Given the description of an element on the screen output the (x, y) to click on. 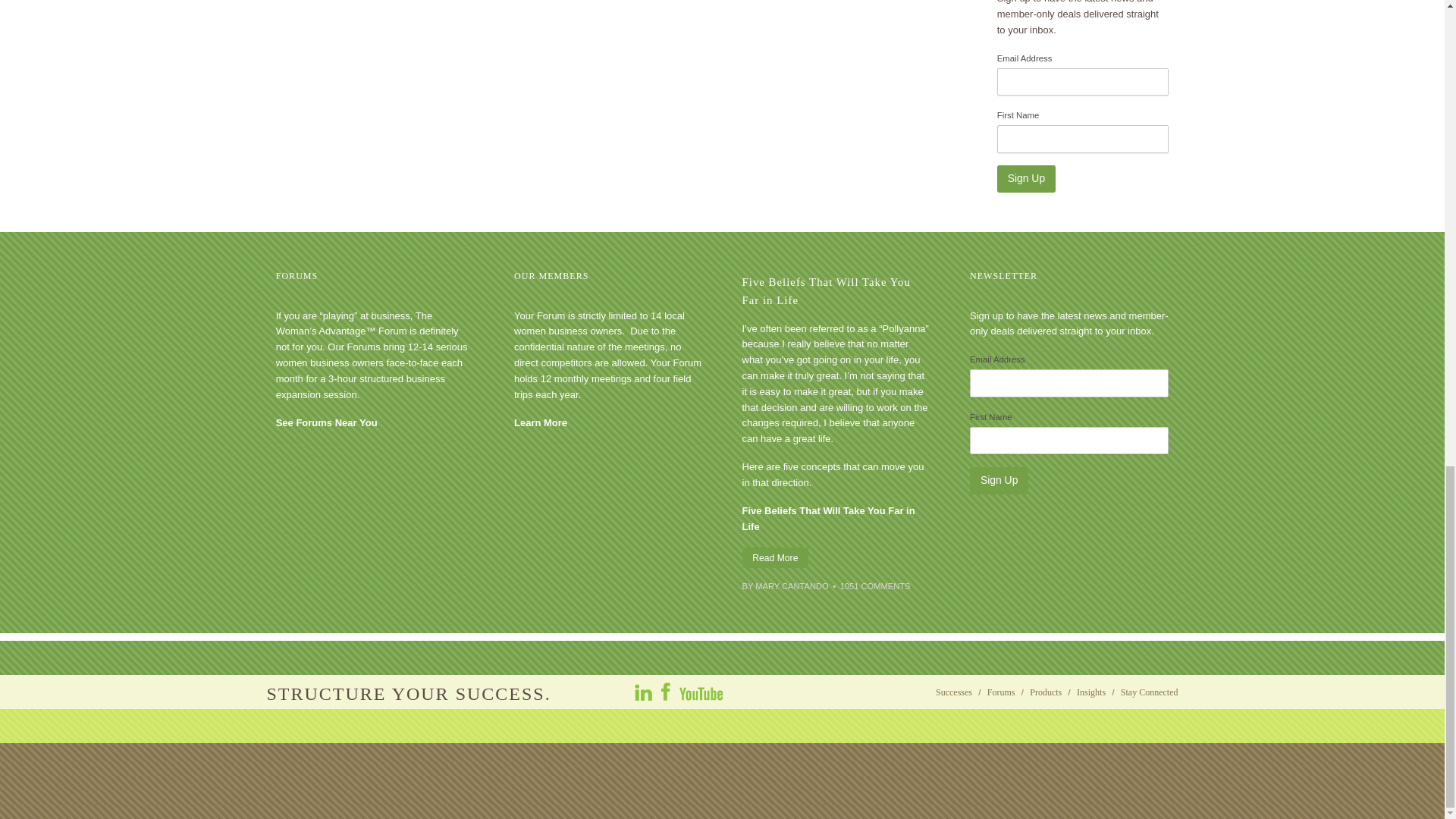
YouTube (700, 691)
Learn More (540, 422)
LinkedIn (643, 691)
Sign Up (1026, 178)
See Forums Near You (326, 422)
